Given the description of an element on the screen output the (x, y) to click on. 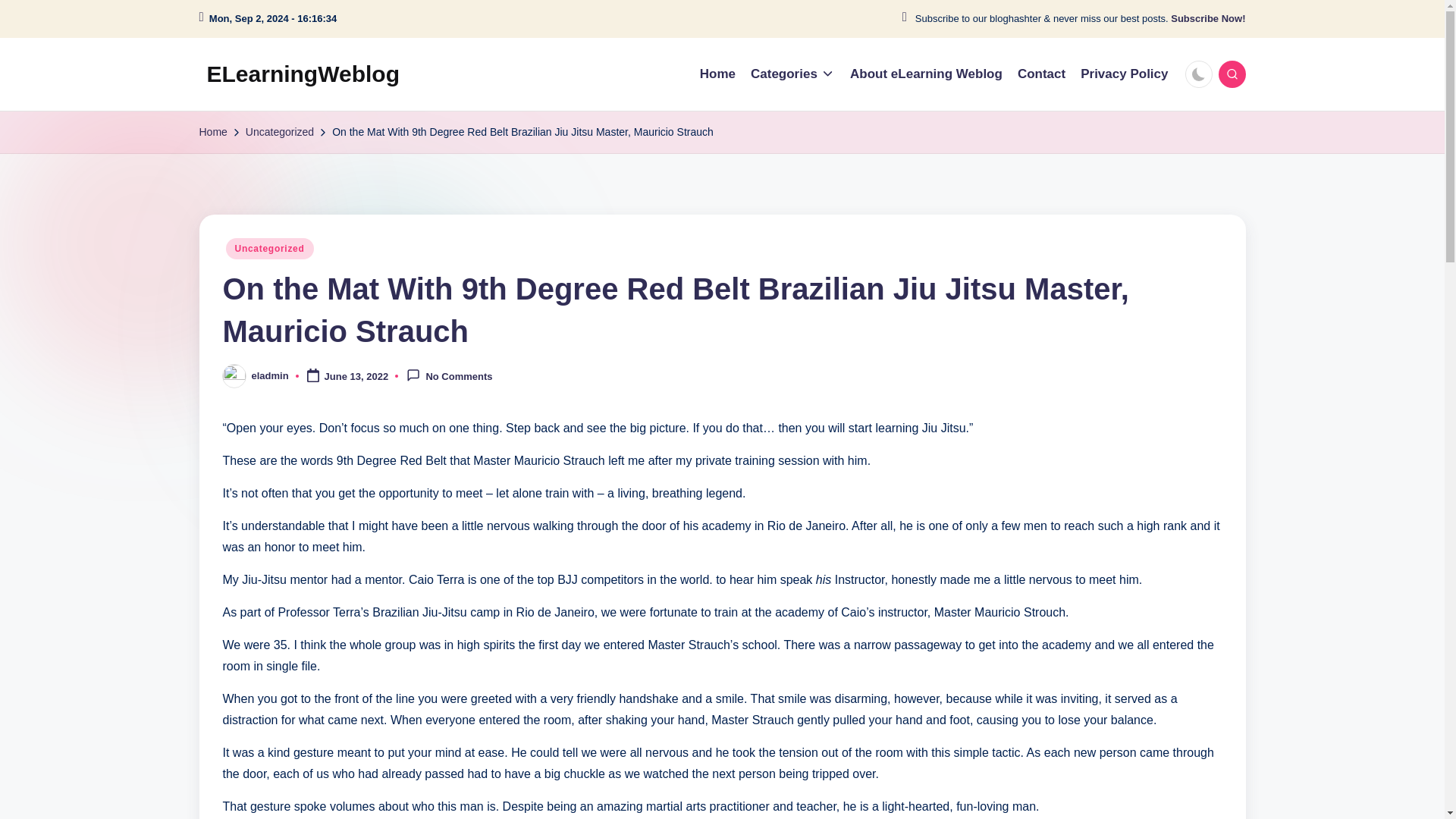
Uncategorized (269, 248)
Home (212, 131)
ELearningWeblog (302, 74)
Uncategorized (280, 131)
Categories (792, 74)
View all posts by eladmin (269, 375)
Subscribe Now! (1207, 18)
No Comments (449, 375)
About eLearning Weblog (926, 74)
Home (717, 74)
